Given the description of an element on the screen output the (x, y) to click on. 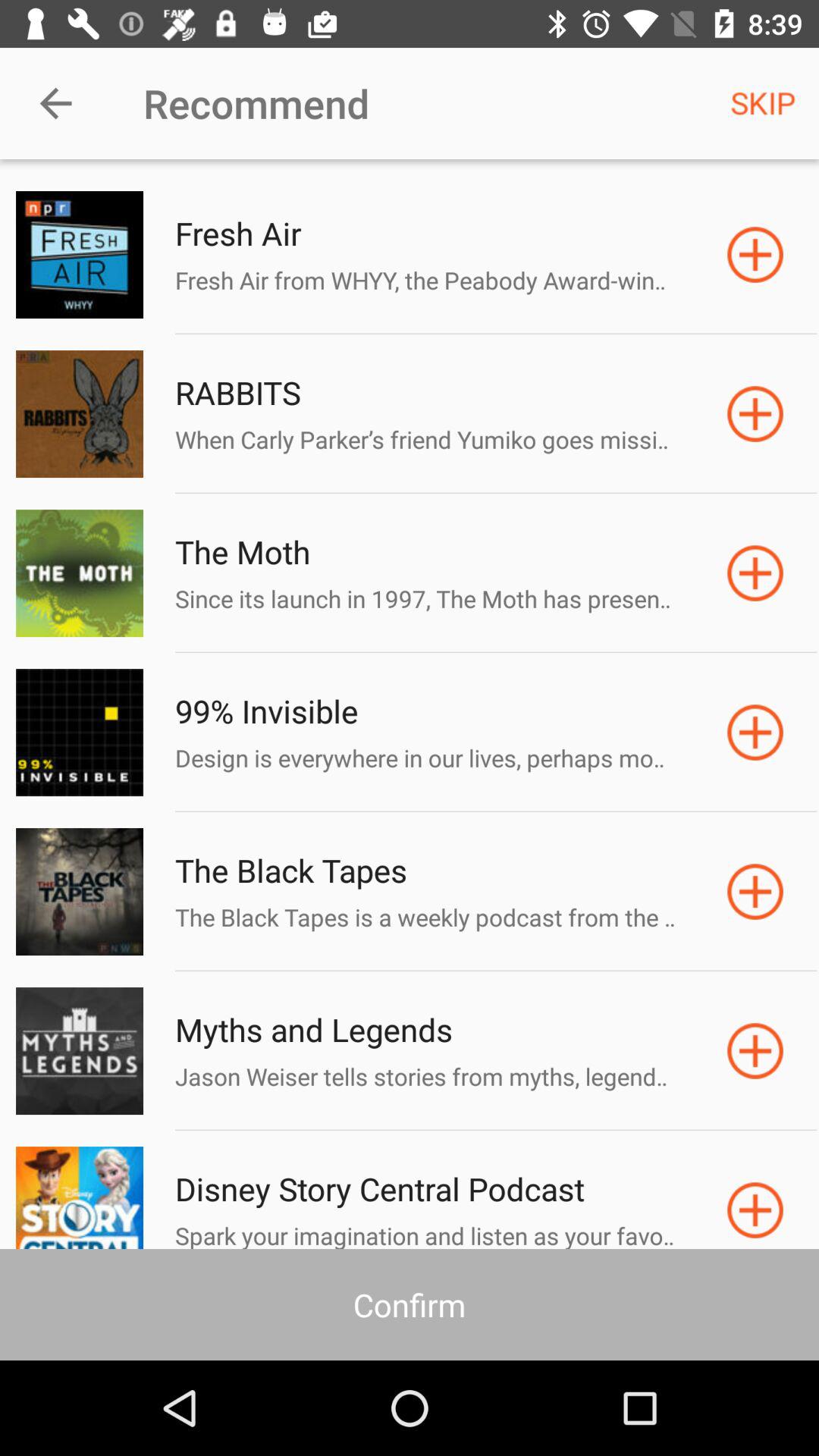
turn on the item to the left of recommend icon (55, 103)
